Given the description of an element on the screen output the (x, y) to click on. 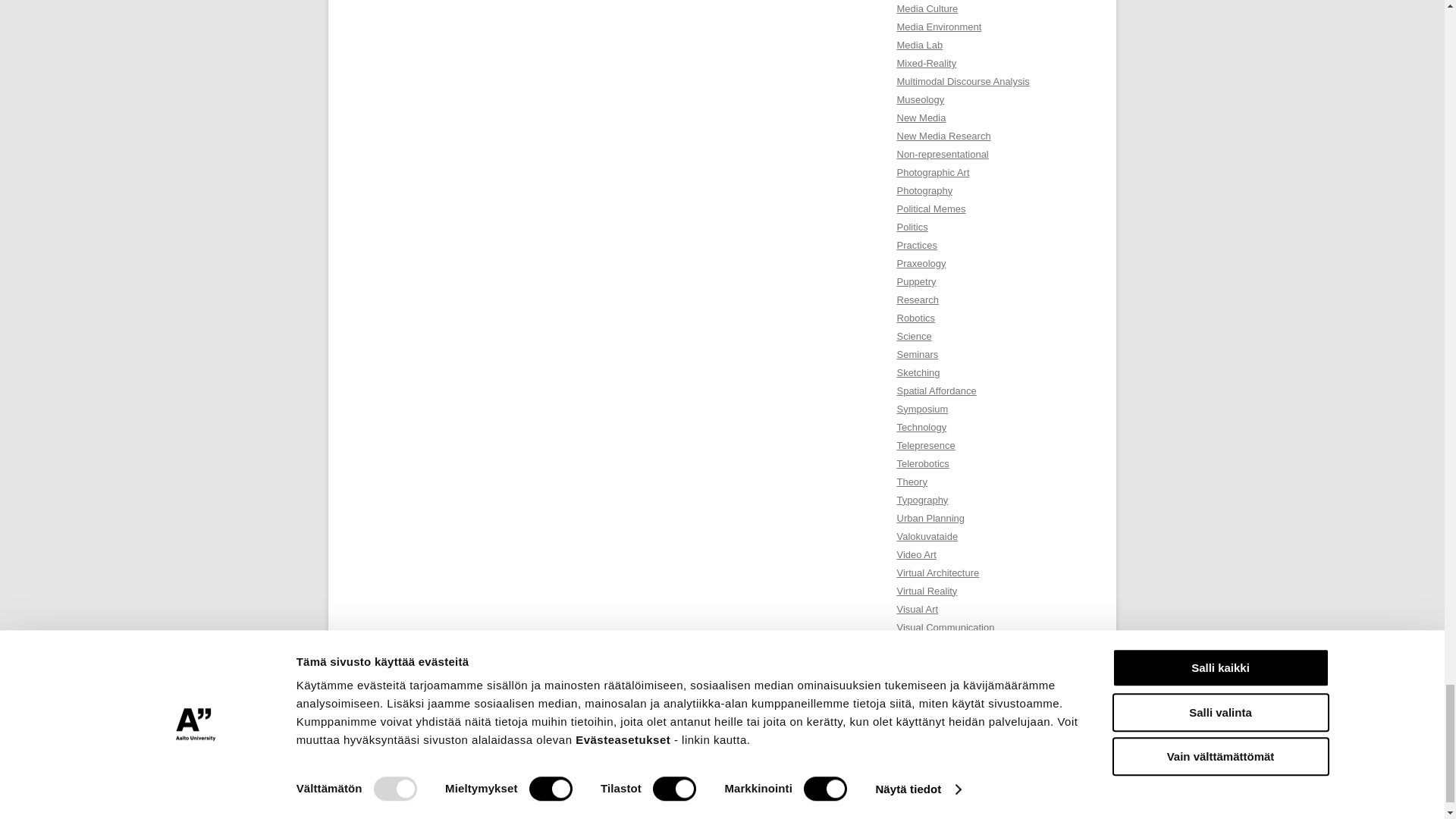
Semantic Personal Publishing Platform (422, 791)
